Given the description of an element on the screen output the (x, y) to click on. 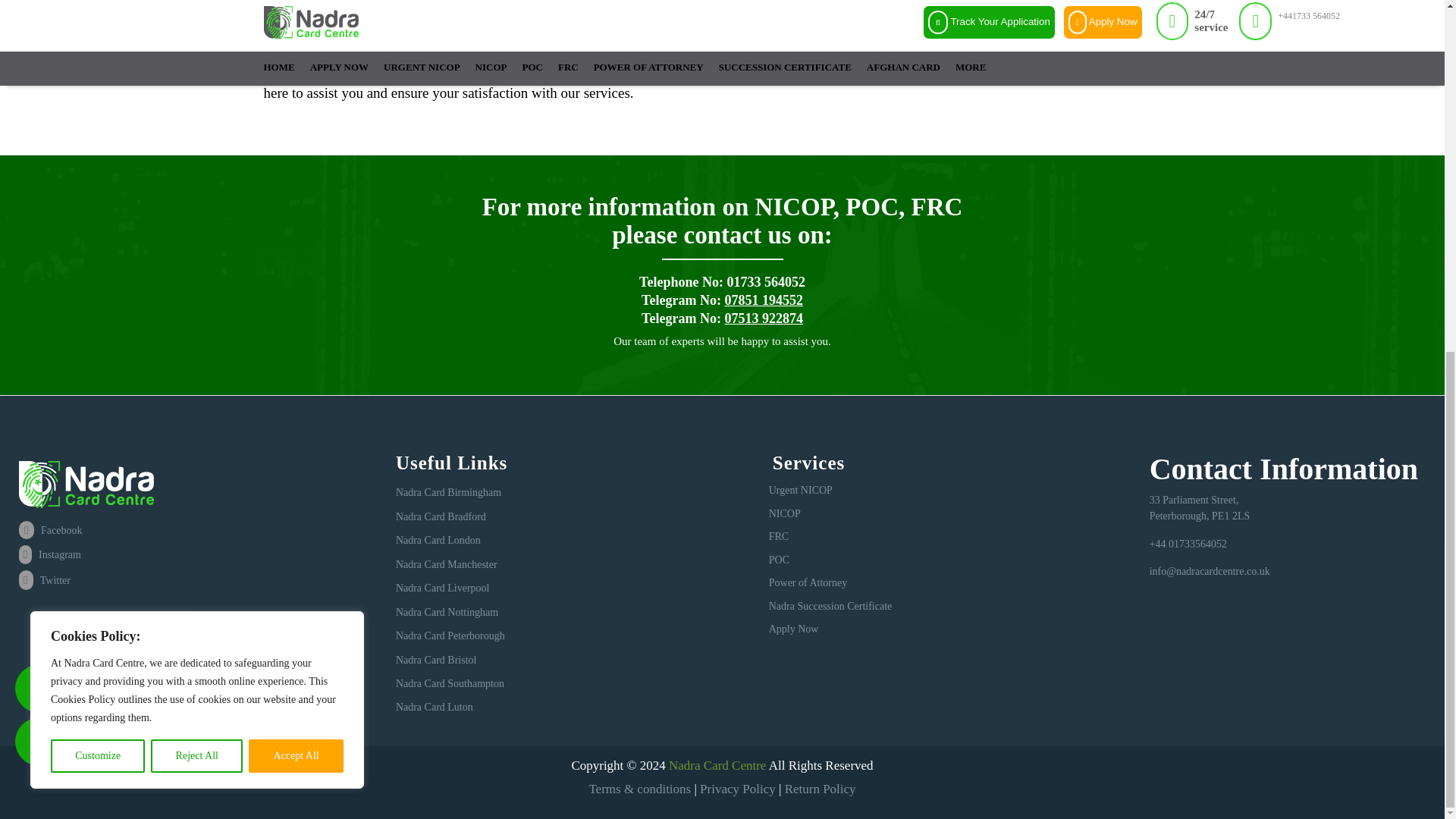
Accept All (295, 144)
Customize (97, 144)
 447925231592 (39, 77)
Reject All (197, 144)
Telegram (39, 130)
